Given the description of an element on the screen output the (x, y) to click on. 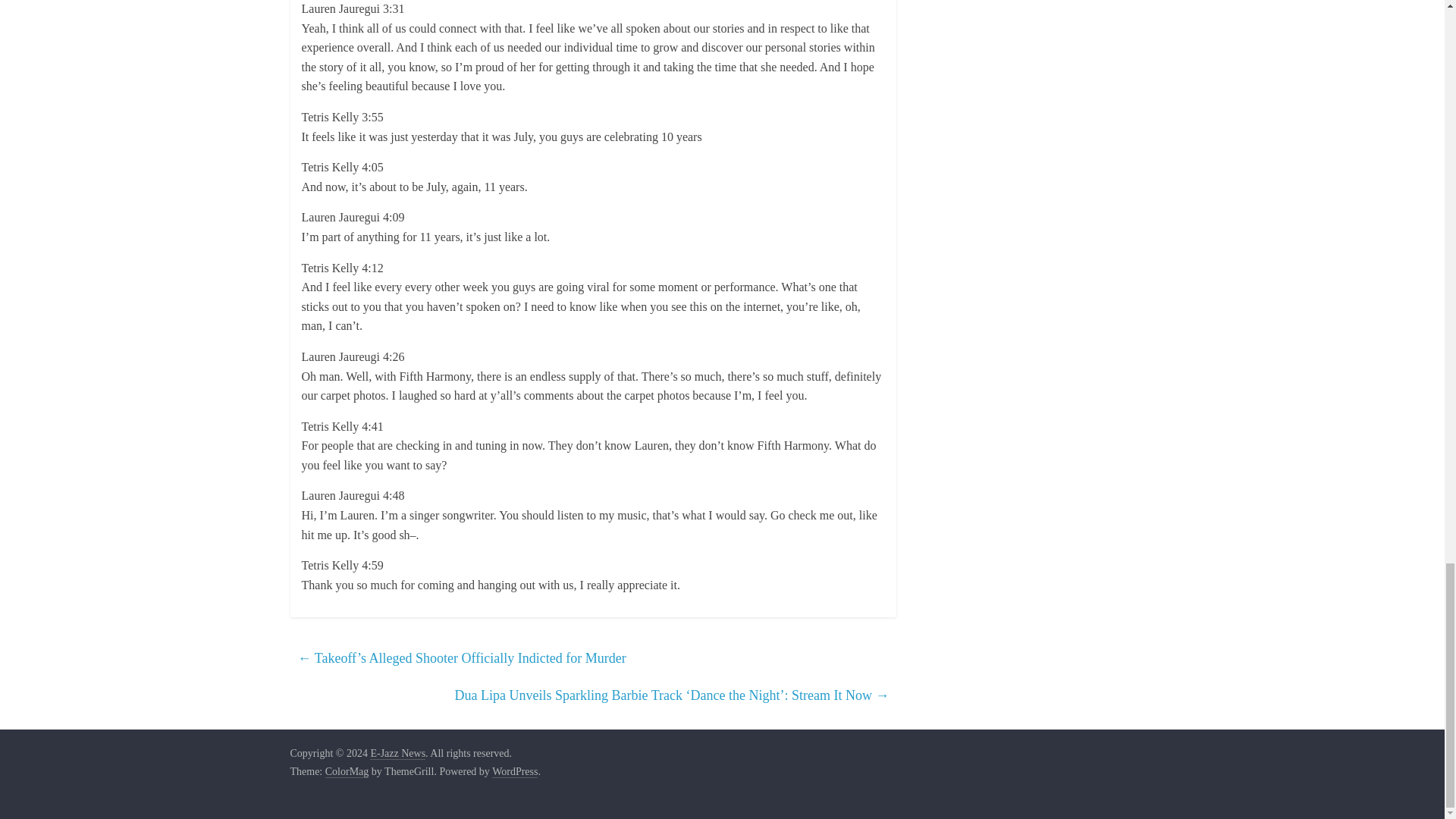
WordPress (514, 771)
E-Jazz News (397, 753)
E-Jazz News (397, 753)
ColorMag (346, 771)
ColorMag (346, 771)
WordPress (514, 771)
